Given the description of an element on the screen output the (x, y) to click on. 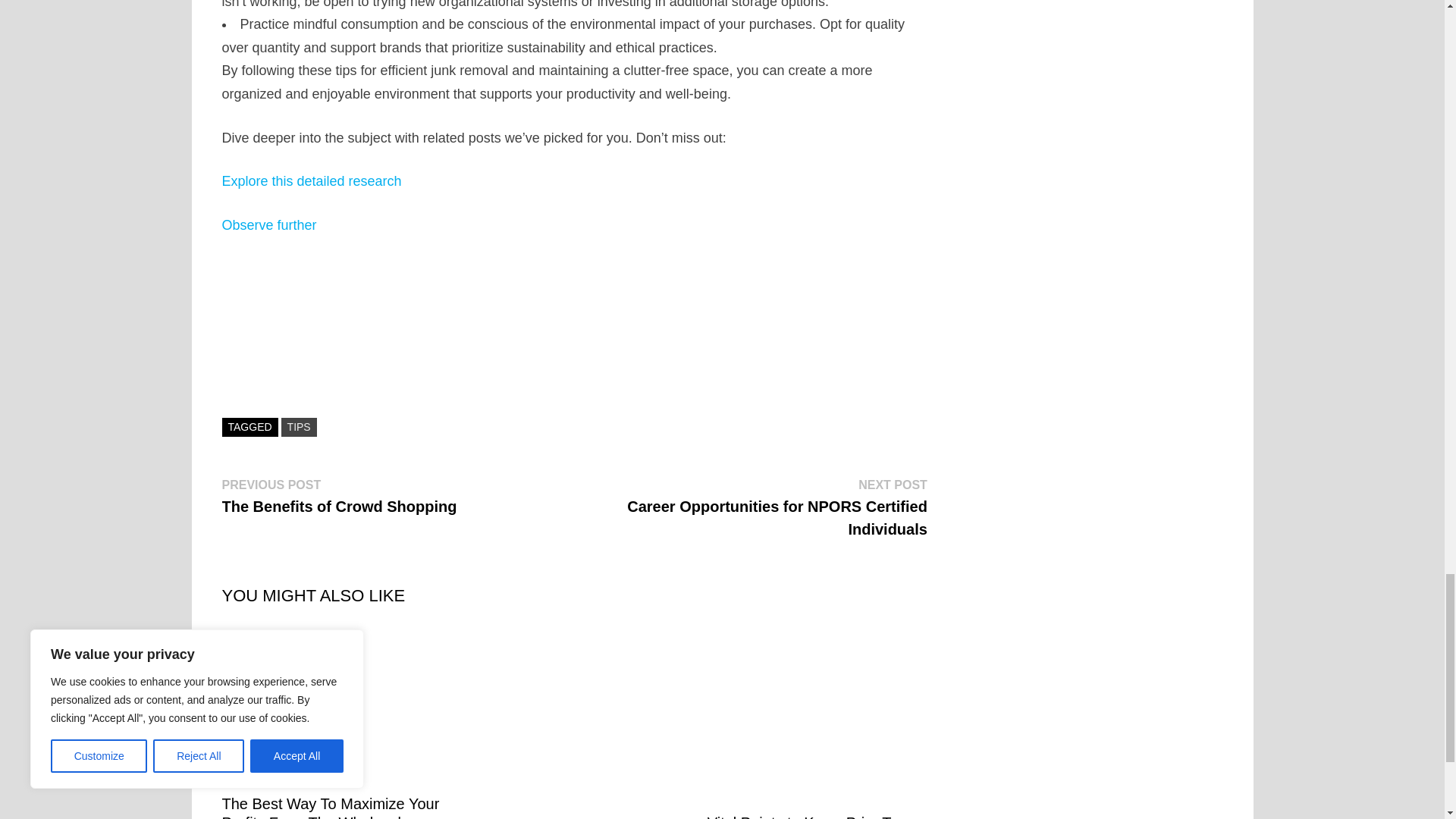
Observe further (339, 495)
Explore this detailed research (268, 224)
TIPS (311, 181)
Vital Points to Know Prior To You Use for an Immigrant Visa (299, 426)
